Given the description of an element on the screen output the (x, y) to click on. 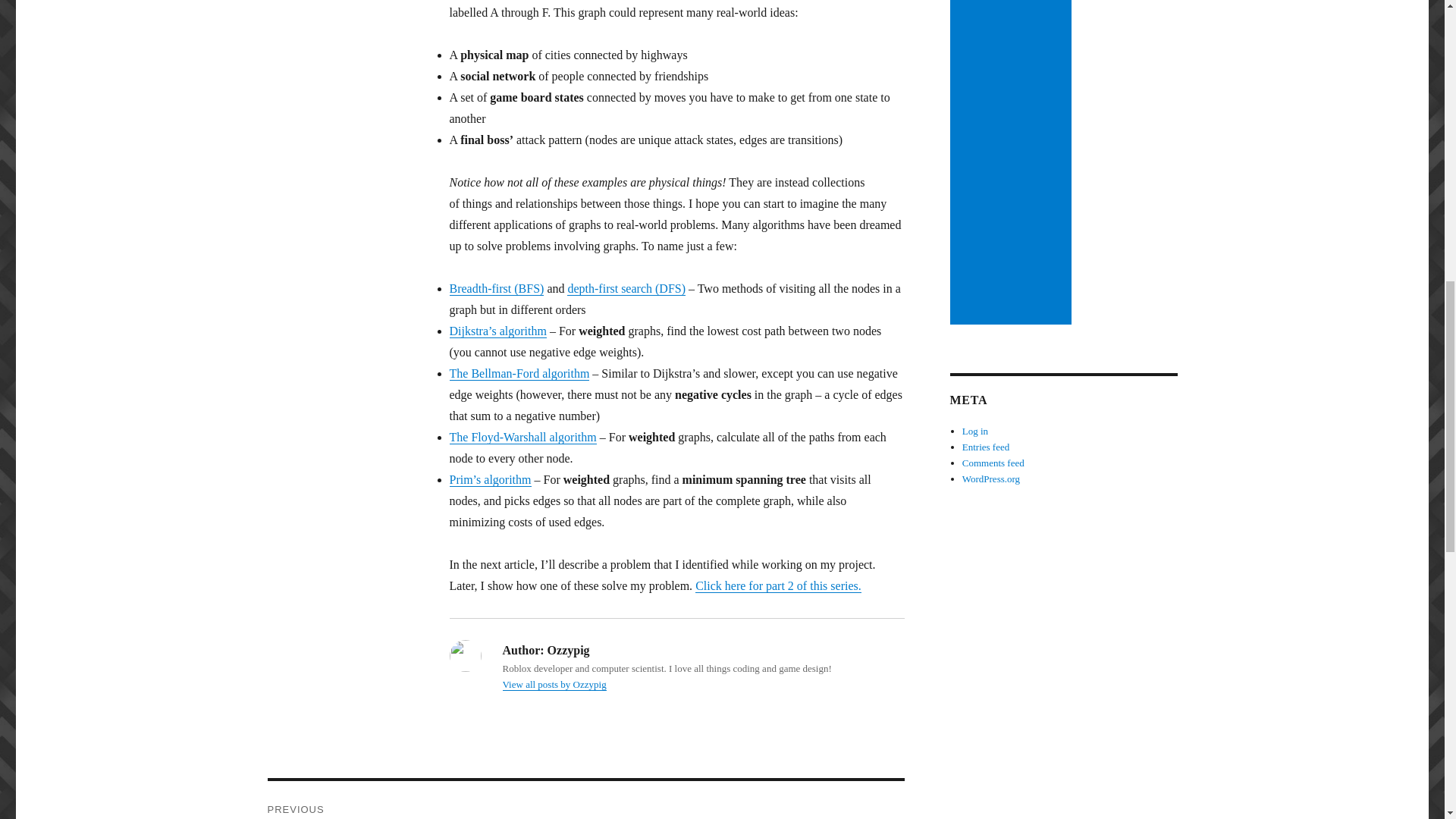
View all posts by Ozzypig (553, 684)
Click here for part 2 of this series. (778, 585)
The Floyd-Warshall algorithm (521, 436)
The Bellman-Ford algorithm (518, 373)
